Given the description of an element on the screen output the (x, y) to click on. 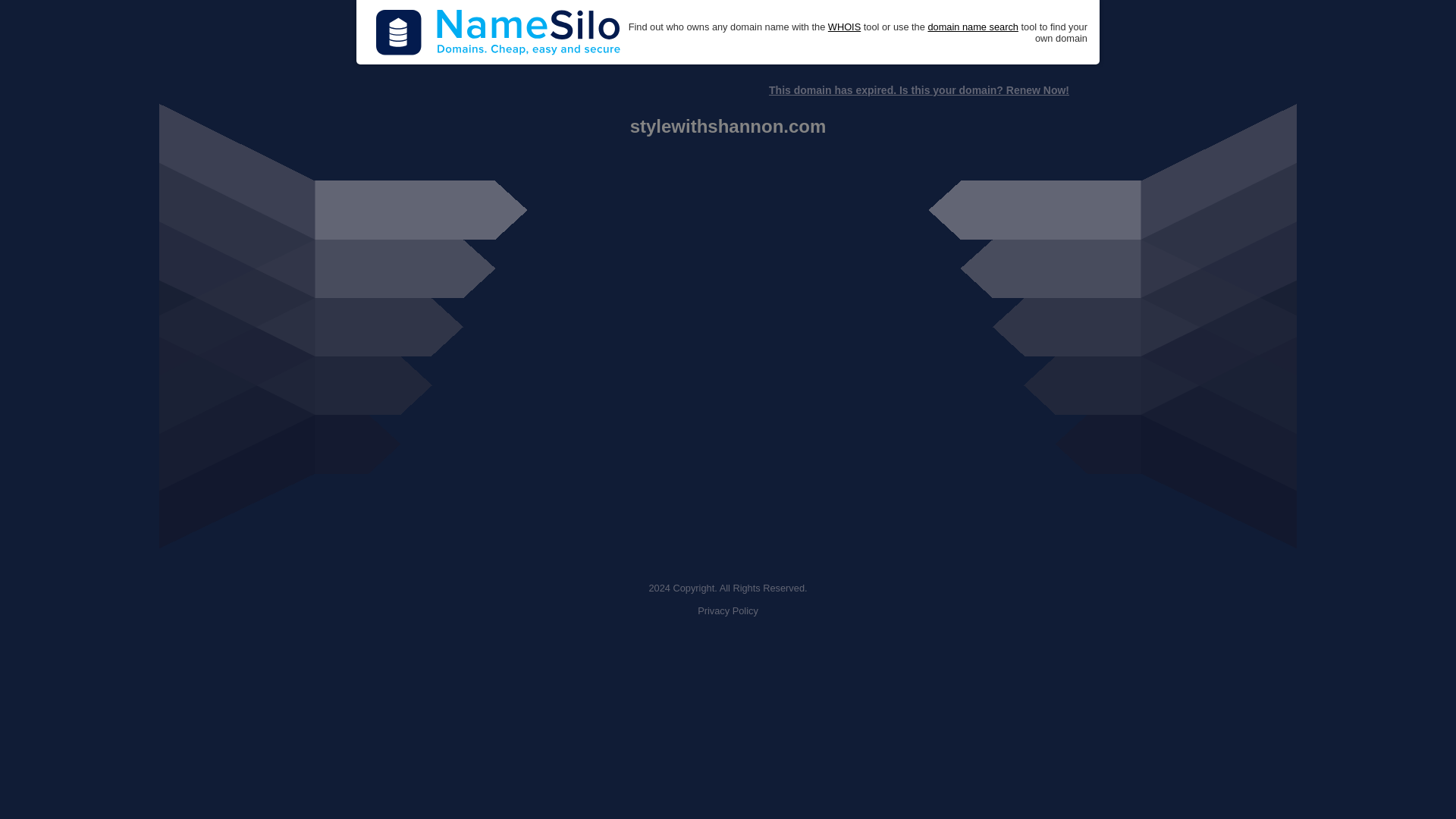
This domain has expired. Is this your domain? Renew Now! (918, 90)
domain name search (972, 26)
Privacy Policy (727, 610)
WHOIS (844, 26)
